Given the description of an element on the screen output the (x, y) to click on. 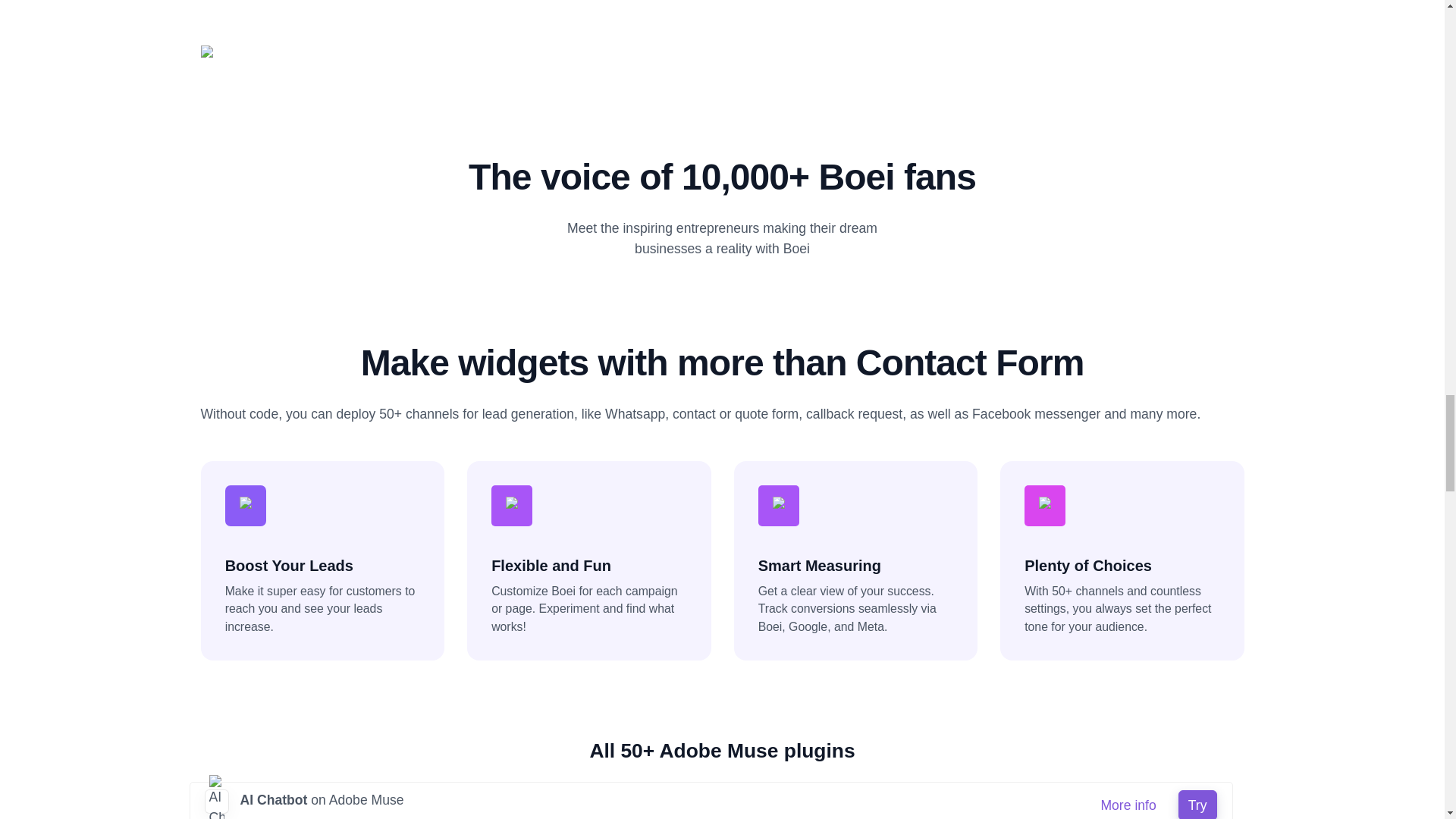
Previous (278, 51)
Next (1165, 51)
More info (1128, 804)
Try (1197, 804)
